Given the description of an element on the screen output the (x, y) to click on. 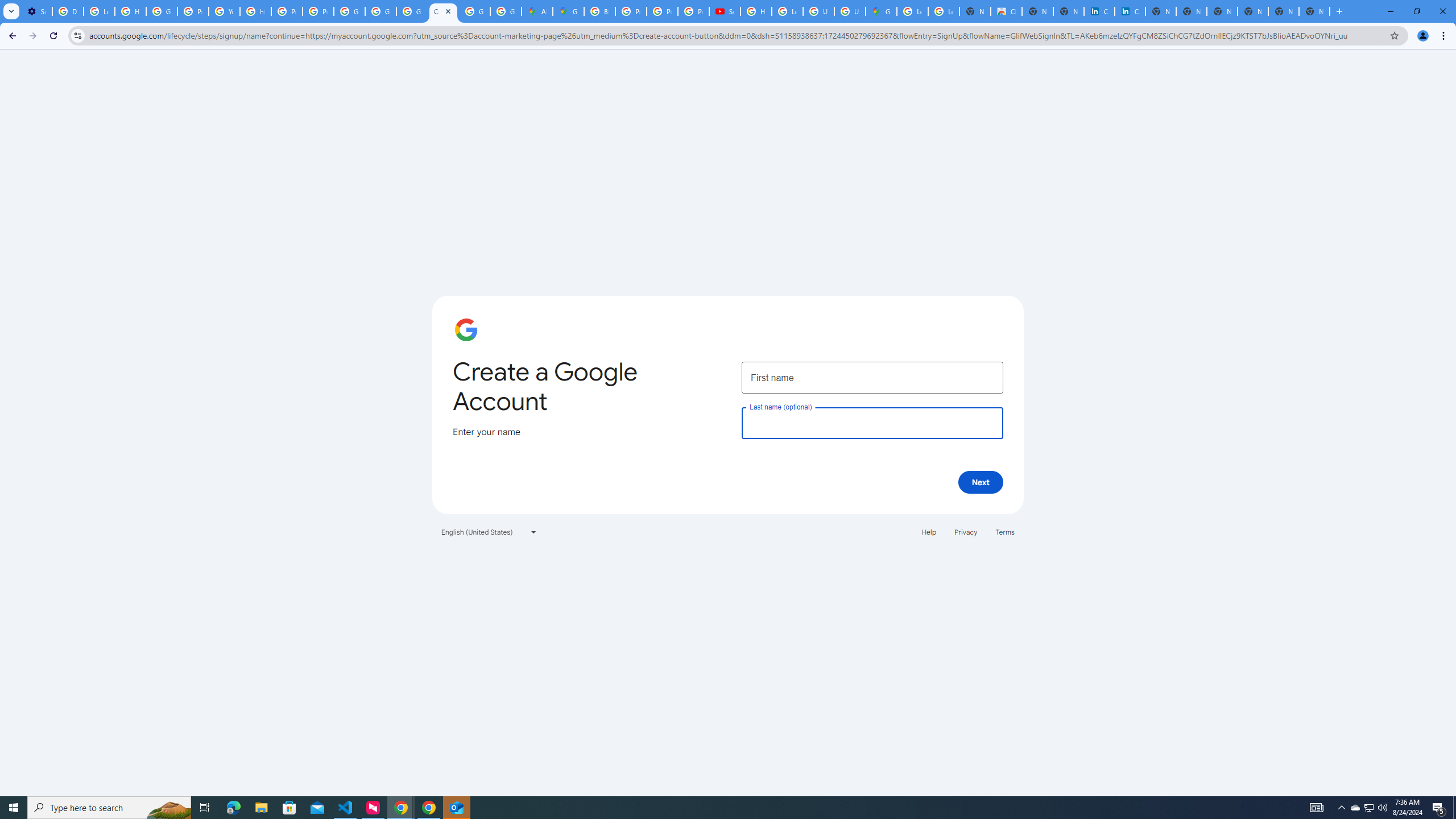
Cookie Policy | LinkedIn (1129, 11)
Google Maps (881, 11)
Privacy Help Center - Policies Help (286, 11)
Subscriptions - YouTube (724, 11)
First name (871, 376)
Privacy Help Center - Policies Help (662, 11)
